Given the description of an element on the screen output the (x, y) to click on. 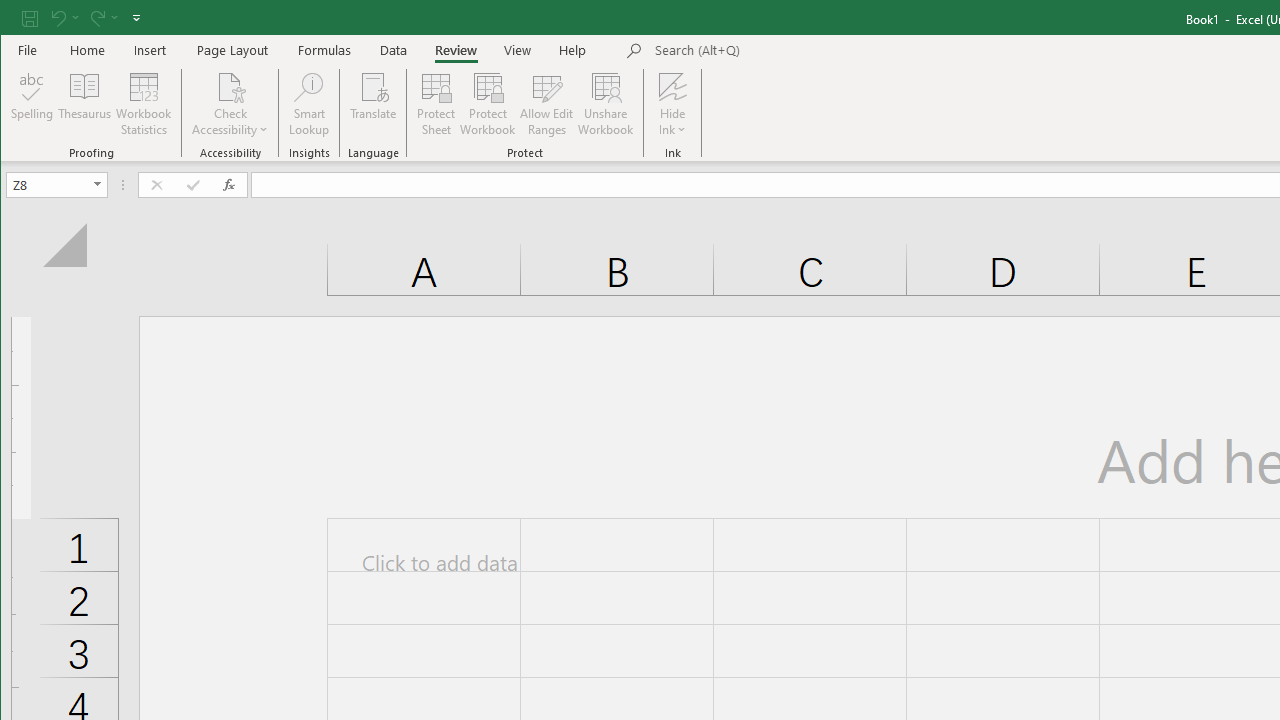
Workbook Statistics (143, 104)
Protect Workbook... (488, 104)
Protect Sheet... (436, 104)
Spelling... (32, 104)
